Given the description of an element on the screen output the (x, y) to click on. 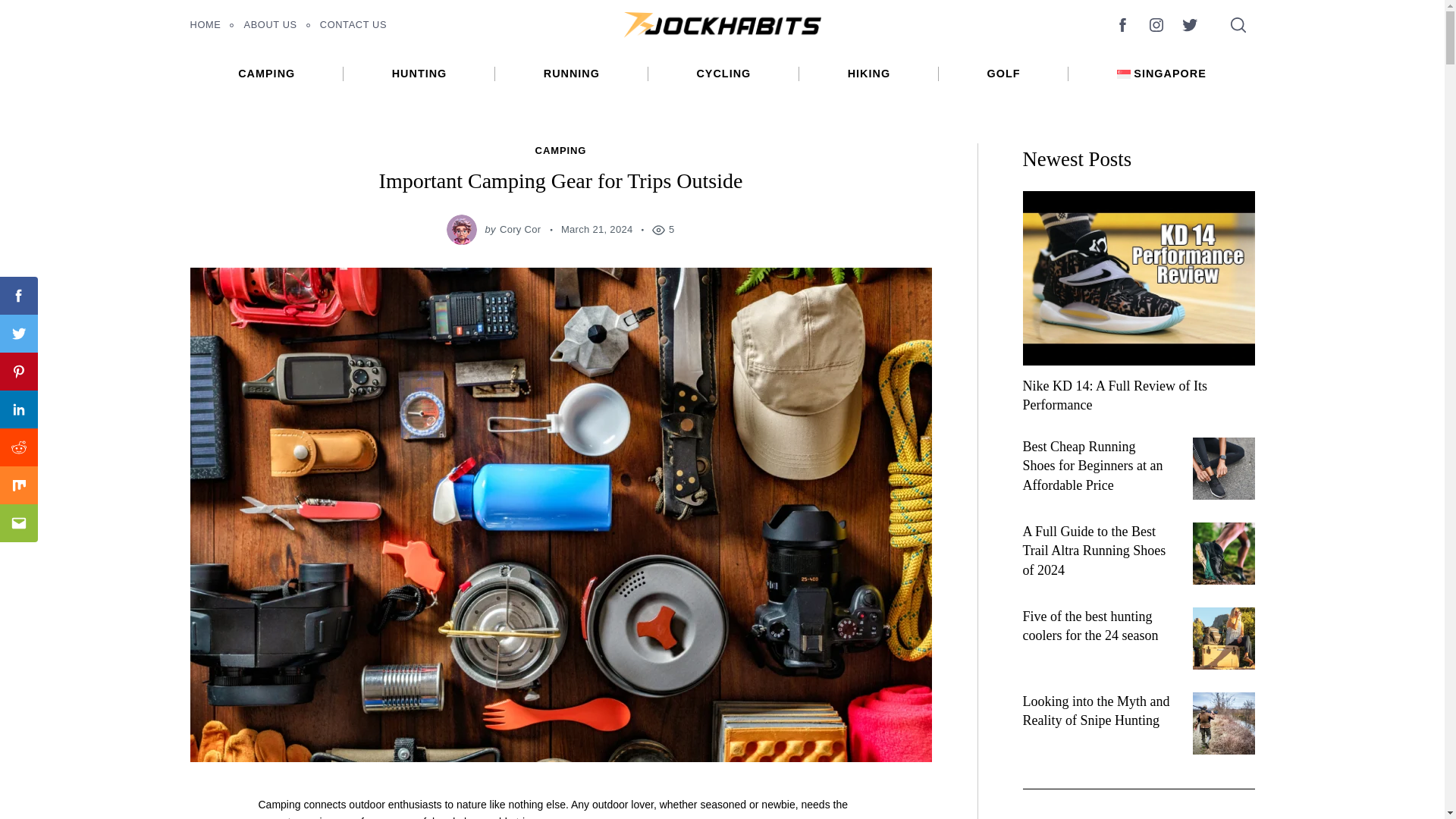
HUNTING (419, 73)
HIKING (869, 73)
CAMPING (560, 150)
Cory Cor (519, 229)
RUNNING (571, 73)
Facebook (18, 295)
Instagram (1155, 24)
Facebook (1121, 24)
CAMPING (265, 73)
Twitter (18, 333)
